Given the description of an element on the screen output the (x, y) to click on. 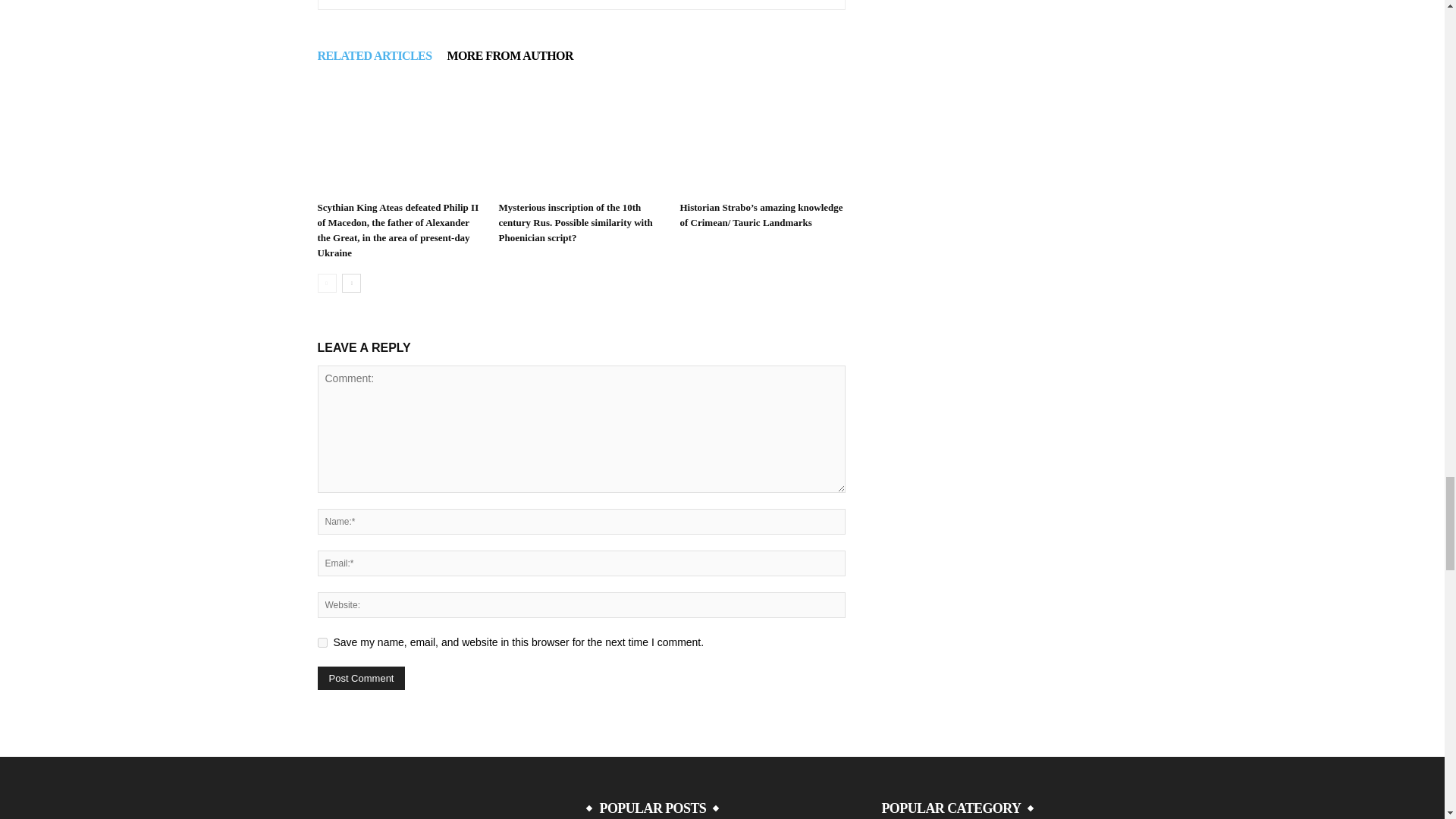
yes (321, 642)
Post Comment (360, 678)
